Given the description of an element on the screen output the (x, y) to click on. 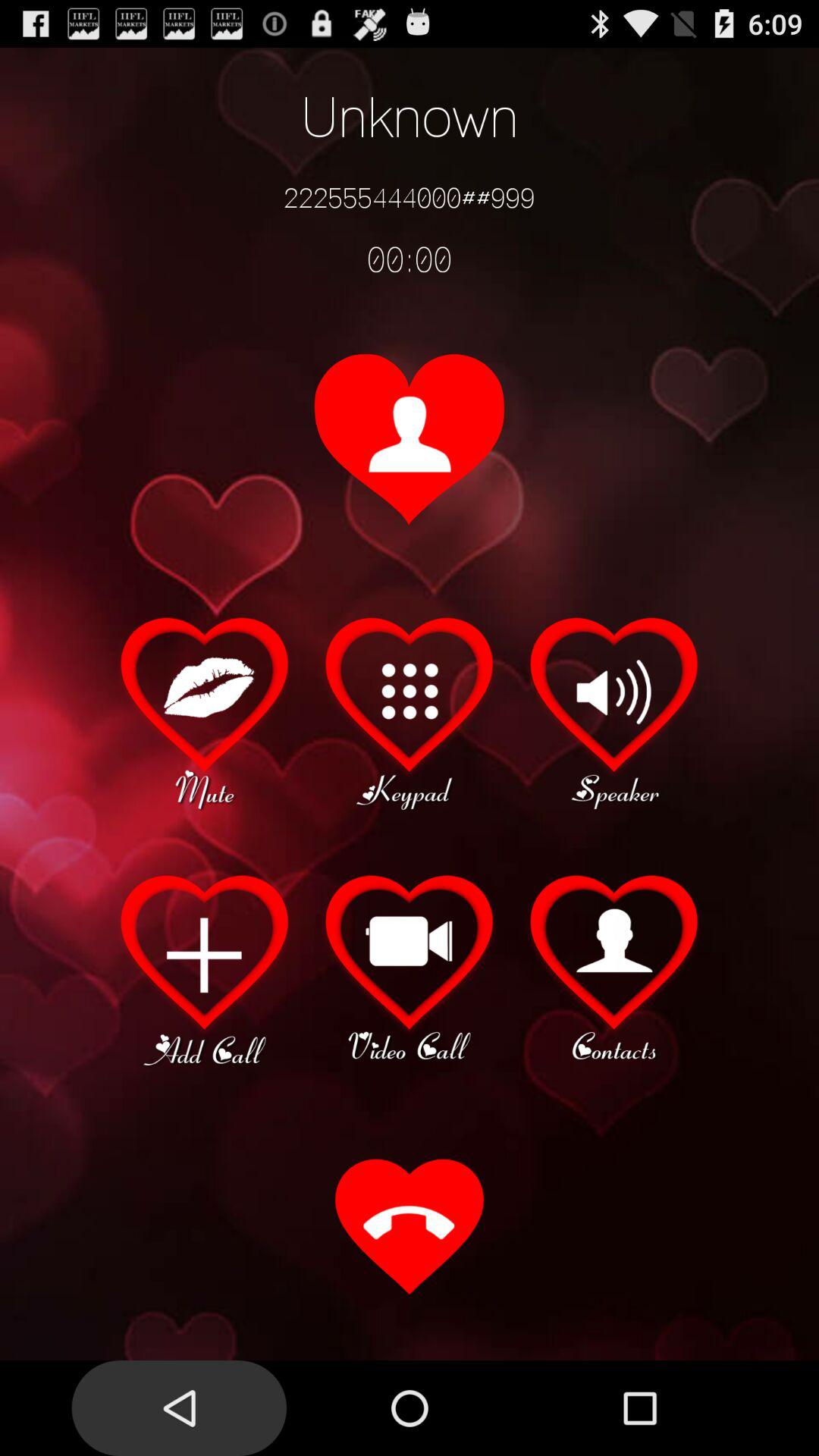
contacts (613, 968)
